Given the description of an element on the screen output the (x, y) to click on. 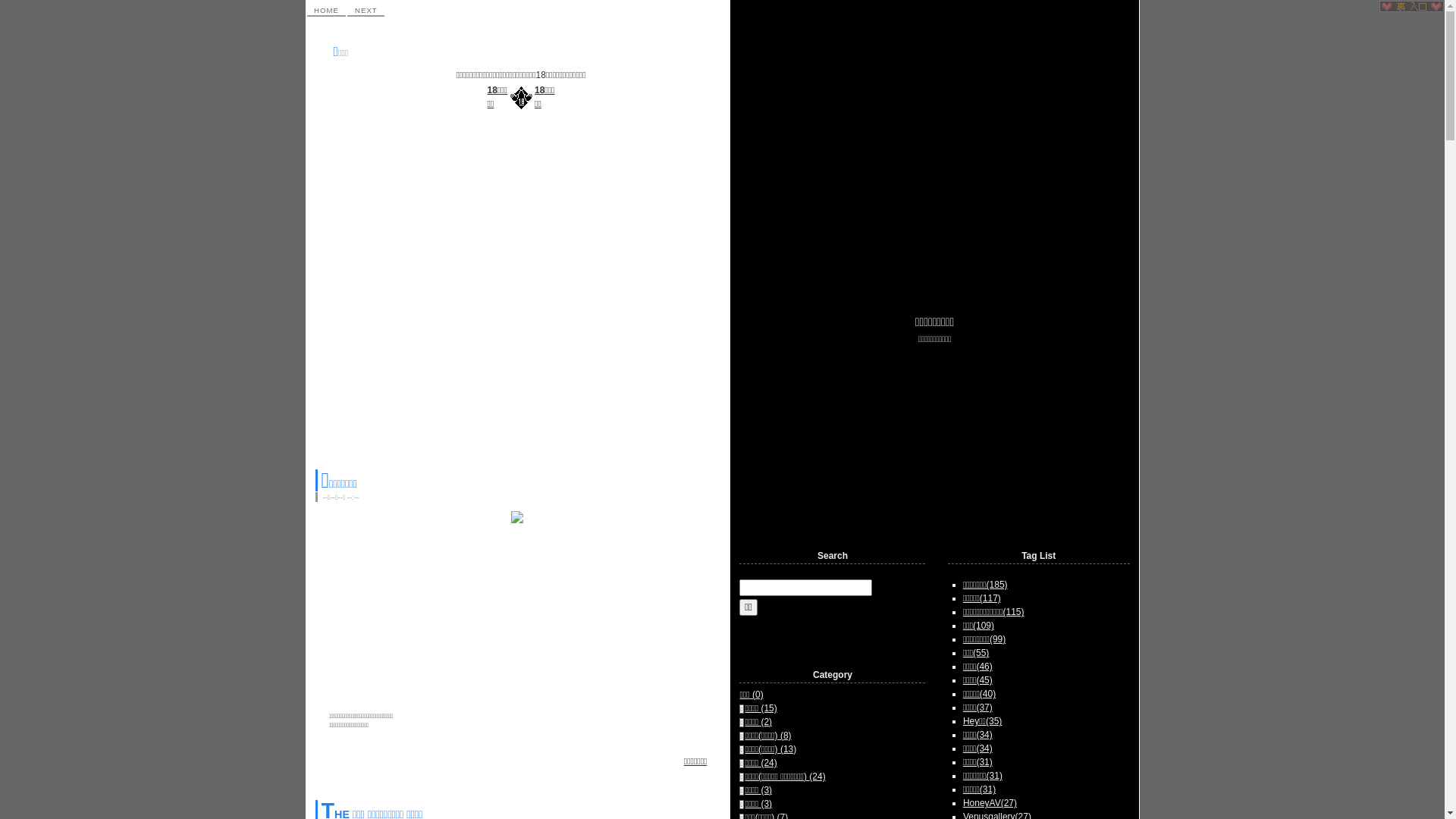
HoneyAV(27) Element type: text (989, 802)
(0) Element type: text (757, 694)
